Given the description of an element on the screen output the (x, y) to click on. 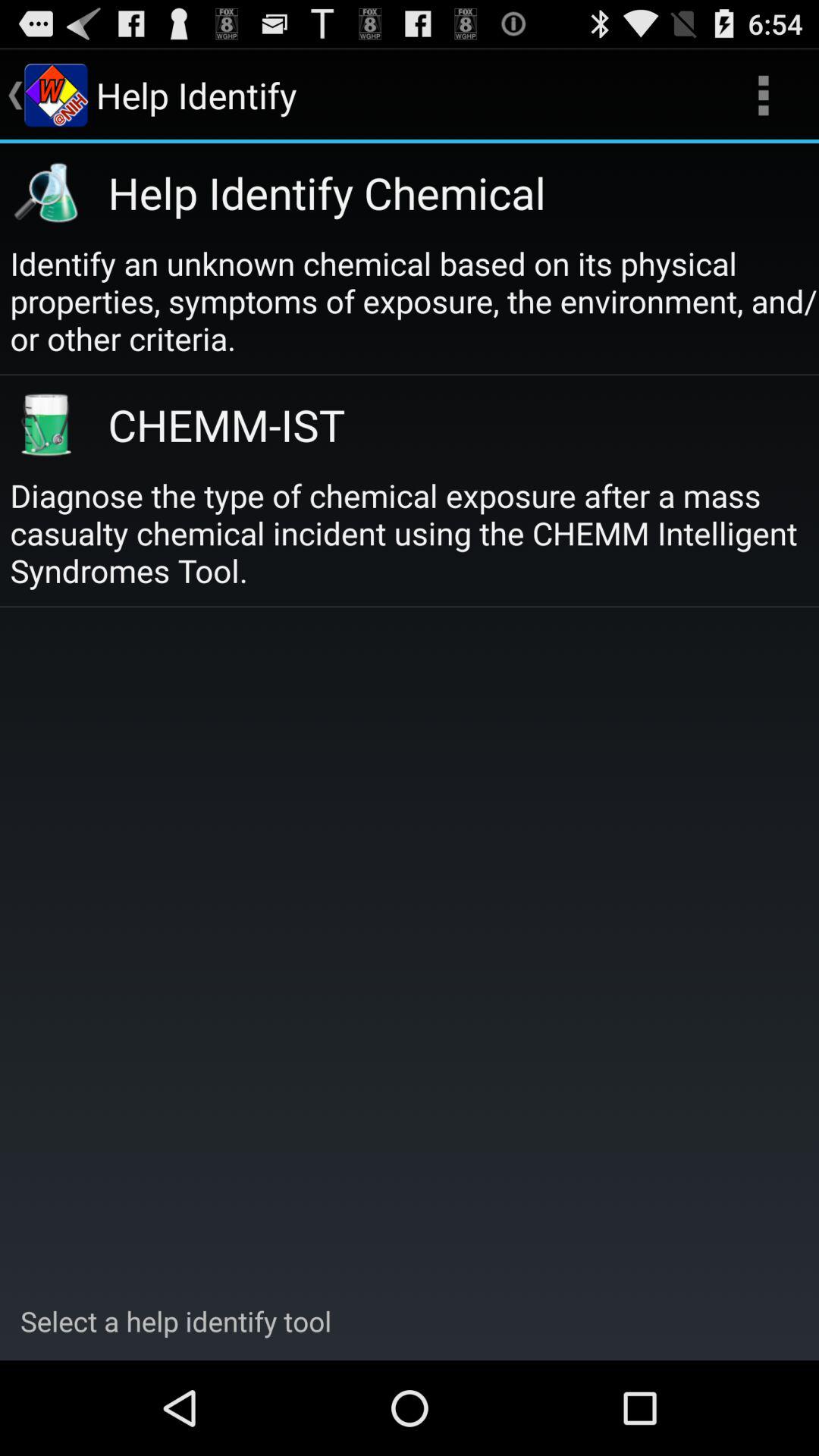
tap app above help identify chemical icon (763, 95)
